Given the description of an element on the screen output the (x, y) to click on. 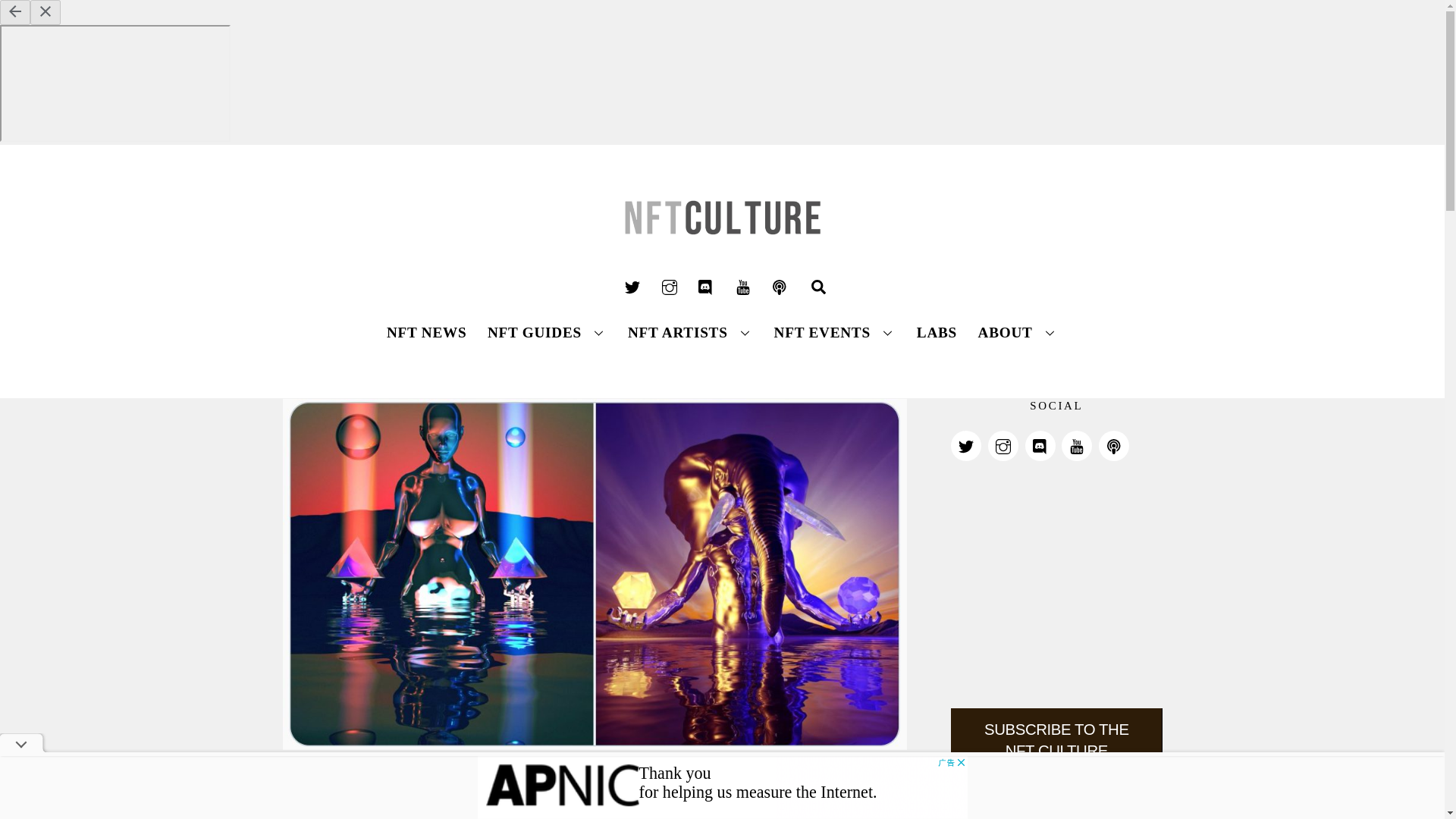
Advertisement (722, 787)
ABOUT (1018, 331)
NFT EVENTS (834, 331)
NFT ARTISTS (689, 331)
NFT NEWS (426, 331)
Search (817, 286)
NFT GUIDES (721, 322)
LABS (547, 331)
